Given the description of an element on the screen output the (x, y) to click on. 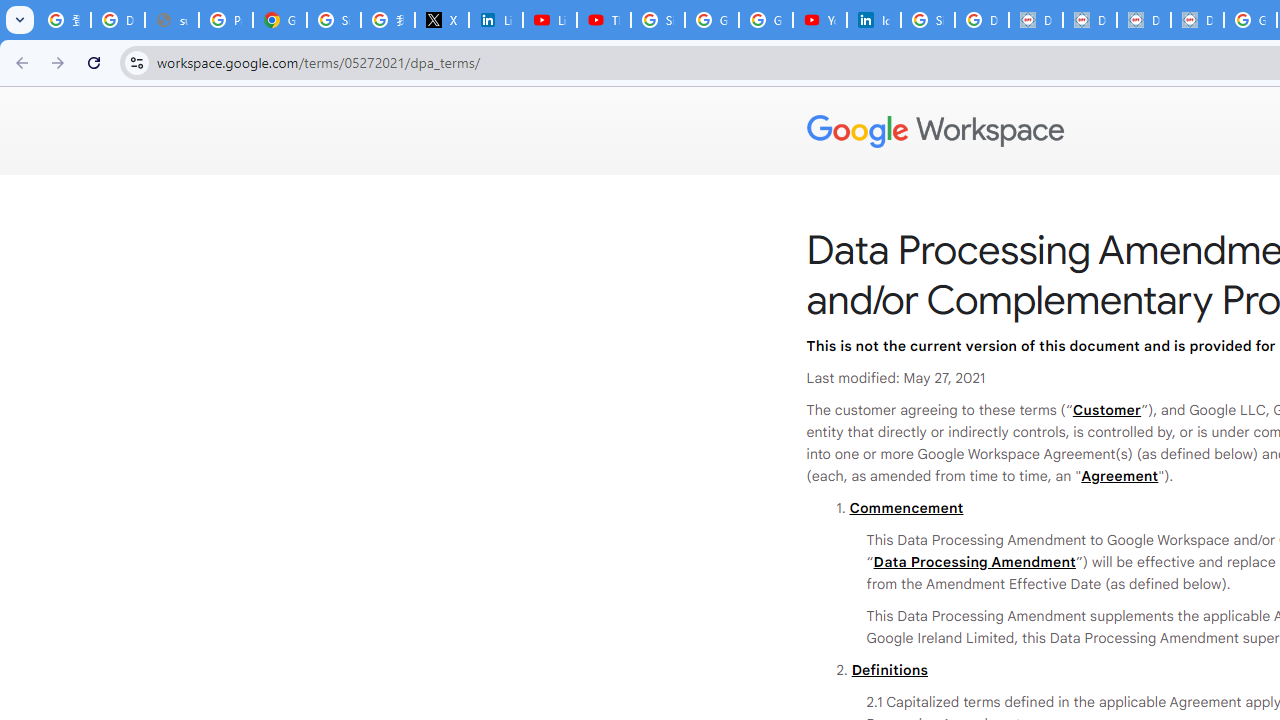
Sign in - Google Accounts (333, 20)
Data Privacy Framework (1144, 20)
Privacy Help Center - Policies Help (225, 20)
Data Privacy Framework (1089, 20)
support.google.com - Network error (171, 20)
Data Privacy Framework (1197, 20)
Sign in - Google Accounts (927, 20)
LinkedIn - YouTube (550, 20)
